Given the description of an element on the screen output the (x, y) to click on. 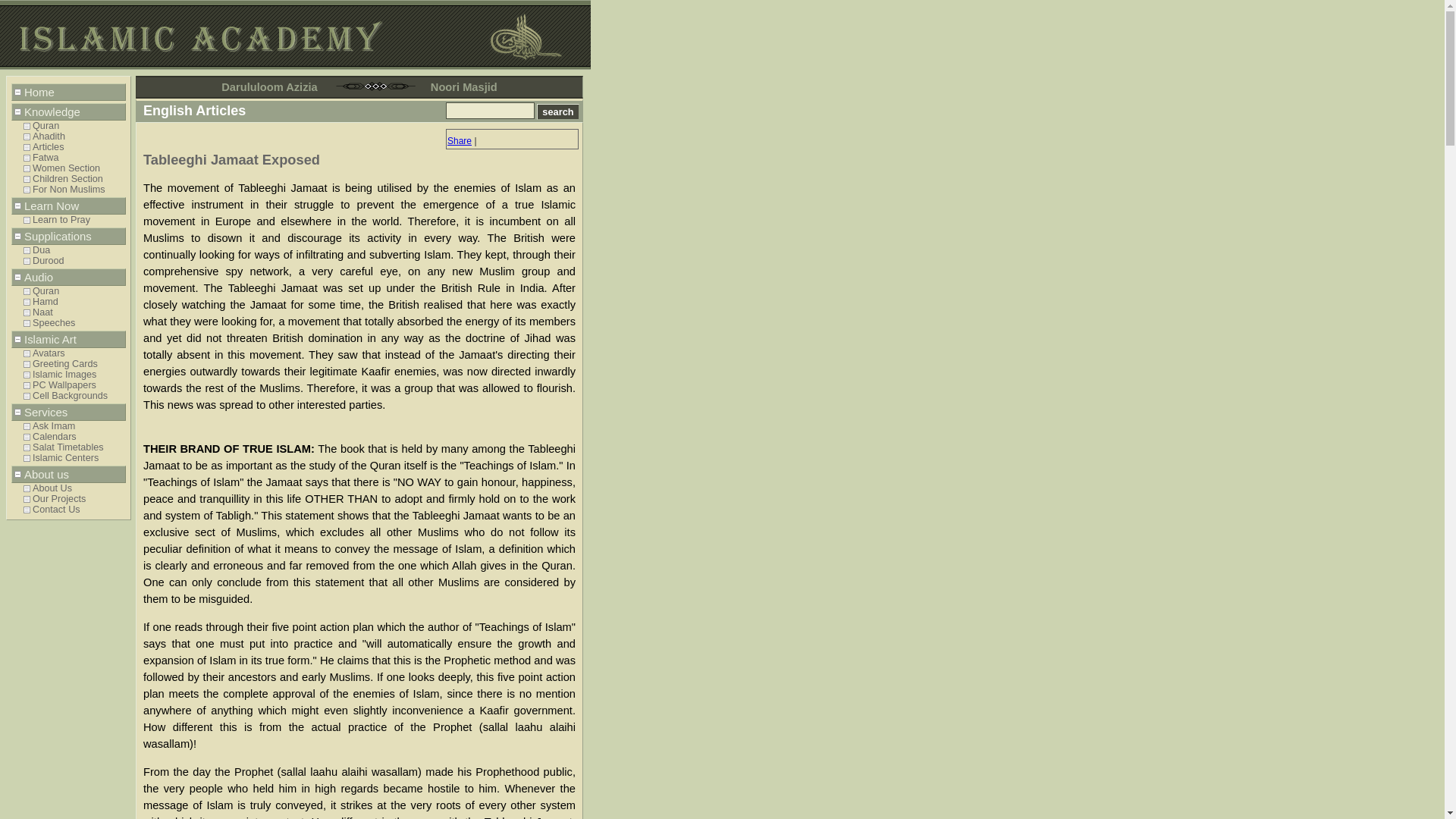
search (558, 111)
Contact Us (74, 509)
Hamd (74, 301)
Islamic Centers (74, 457)
Noori Masjid (463, 87)
About Us (74, 488)
Speeches (74, 322)
Share (458, 140)
PC Wallpapers (74, 385)
Services (68, 411)
Cell Backgrounds (74, 395)
Audio (68, 276)
Islamic Images (74, 374)
Learn Now (68, 205)
About us (68, 474)
